Given the description of an element on the screen output the (x, y) to click on. 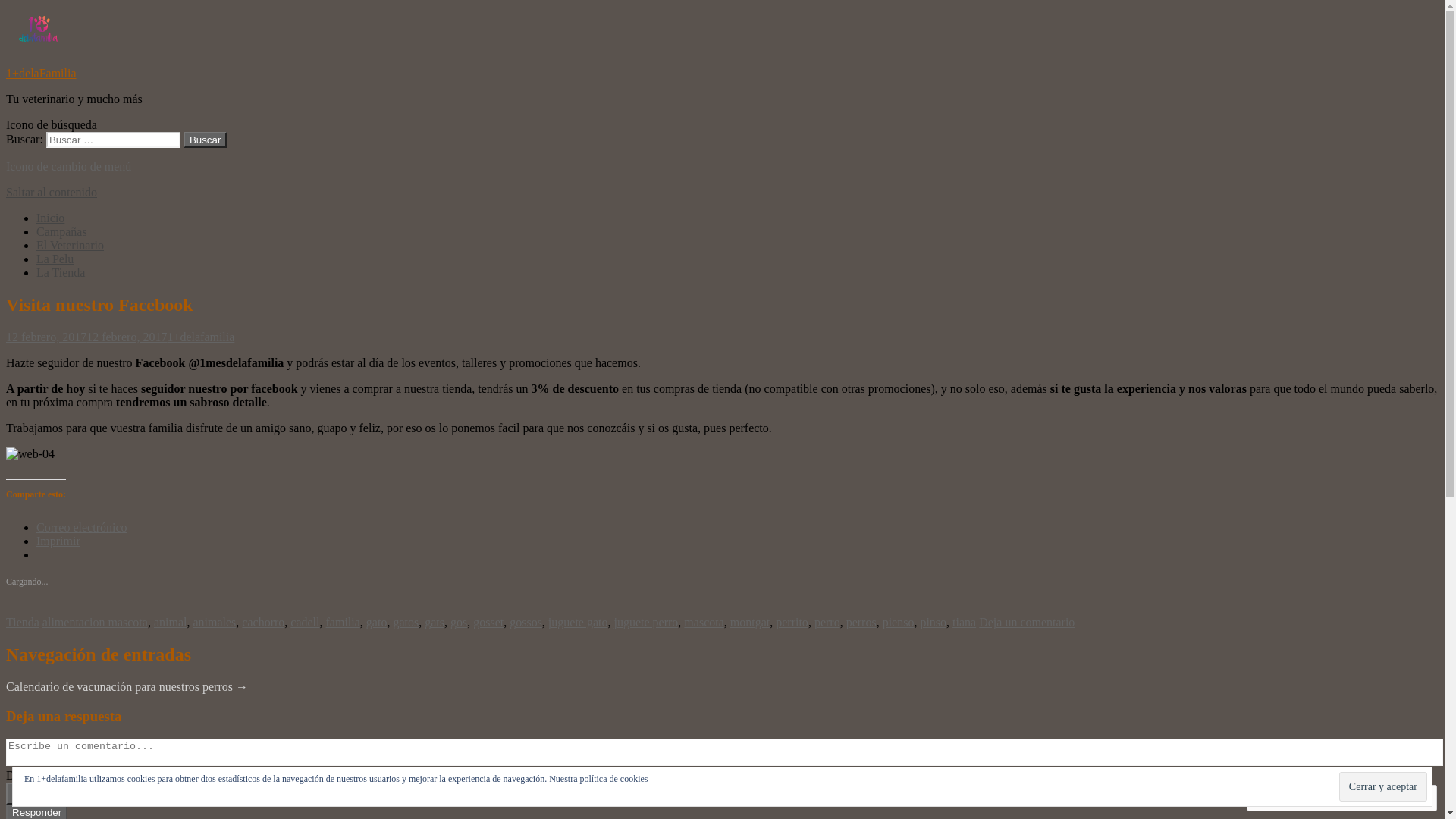
gos Element type: text (458, 621)
gats Element type: text (434, 621)
perro Element type: text (827, 621)
Comentarios Element type: text (1294, 797)
Imprimir Element type: text (58, 540)
cadell Element type: text (304, 621)
gossos Element type: text (525, 621)
pinso Element type: text (932, 621)
12 febrero, 201712 febrero, 2017 Element type: text (86, 336)
perros Element type: text (861, 621)
juguete perro Element type: text (646, 621)
Saltar al contenido Element type: text (51, 191)
gosset Element type: text (488, 621)
gatos Element type: text (405, 621)
montgat Element type: text (749, 621)
juguete gato Element type: text (578, 621)
El Veterinario Element type: text (69, 244)
tiana Element type: text (963, 621)
animales Element type: text (213, 621)
familia Element type: text (343, 621)
Cerrar y aceptar Element type: text (1383, 786)
1+delafamilia Element type: text (200, 336)
1+delaFamilia Element type: text (41, 72)
animal Element type: text (170, 621)
cachorro Element type: text (262, 621)
La Tienda Element type: text (60, 272)
Tienda Element type: text (22, 621)
Buscar Element type: text (204, 139)
mascota Element type: text (703, 621)
gato Element type: text (376, 621)
La Pelu Element type: text (54, 258)
alimentacion mascota Element type: text (94, 621)
pienso Element type: text (898, 621)
Inicio Element type: text (50, 217)
Seguir Element type: text (1374, 797)
Deja un comentario Element type: text (1026, 621)
perrito Element type: text (791, 621)
